Given the description of an element on the screen output the (x, y) to click on. 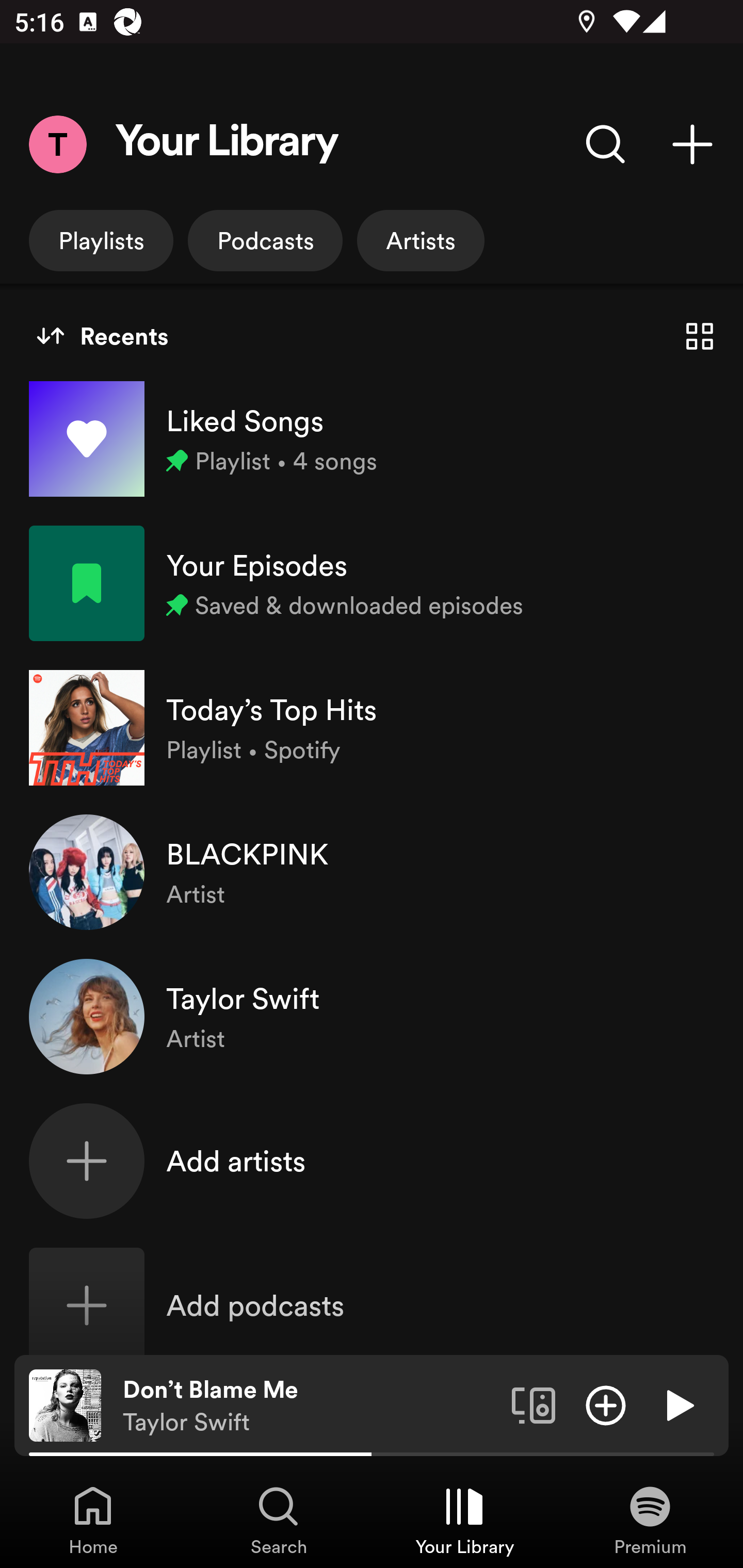
Menu (57, 144)
Search Your Library (605, 144)
Create playlist (692, 144)
Your Library Your Library Heading (226, 144)
Playlists, show only playlists. (100, 240)
Podcasts, show only podcasts. (264, 240)
Artists, show only artists. (420, 240)
Recents (101, 336)
Show Grid view (699, 336)
BLACKPINK, Artist,  BLACKPINK Artist (371, 871)
Taylor Swift, Artist,  Taylor Swift Artist (371, 1016)
Add artists,  Add artists (371, 1160)
Add podcasts,  Add podcasts (371, 1305)
Don’t Blame Me Taylor Swift (309, 1405)
The cover art of the currently playing track (64, 1404)
Connect to a device. Opens the devices menu (533, 1404)
Add item (605, 1404)
Play (677, 1404)
Home, Tab 1 of 4 Home Home (92, 1519)
Search, Tab 2 of 4 Search Search (278, 1519)
Your Library, Tab 3 of 4 Your Library Your Library (464, 1519)
Premium, Tab 4 of 4 Premium Premium (650, 1519)
